Given the description of an element on the screen output the (x, y) to click on. 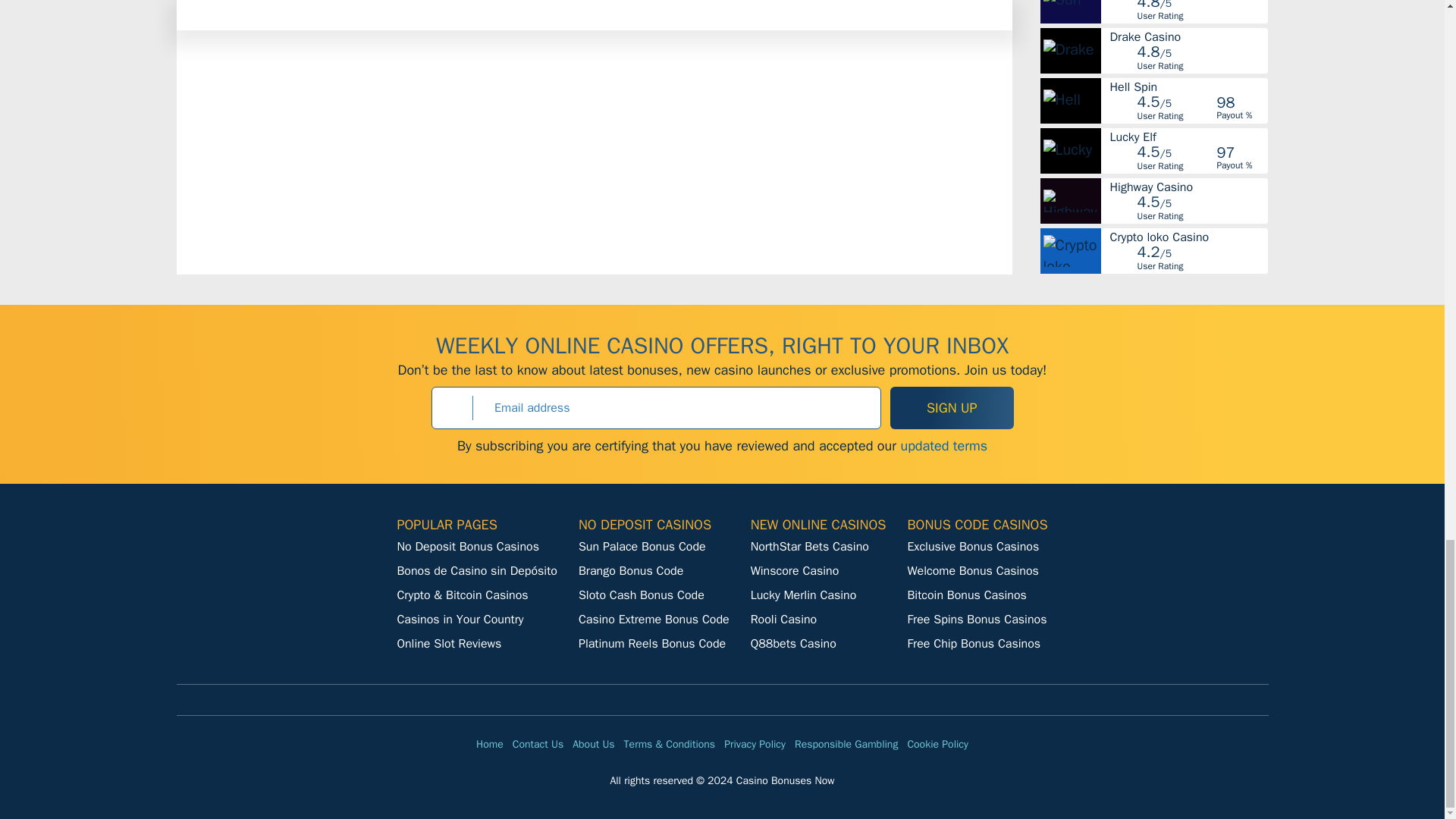
Hell Spin (1187, 87)
Lucky Elf (1187, 137)
Crypto loko Casino (1187, 236)
Highway Casino (1187, 186)
Drake Casino (1187, 37)
